Given the description of an element on the screen output the (x, y) to click on. 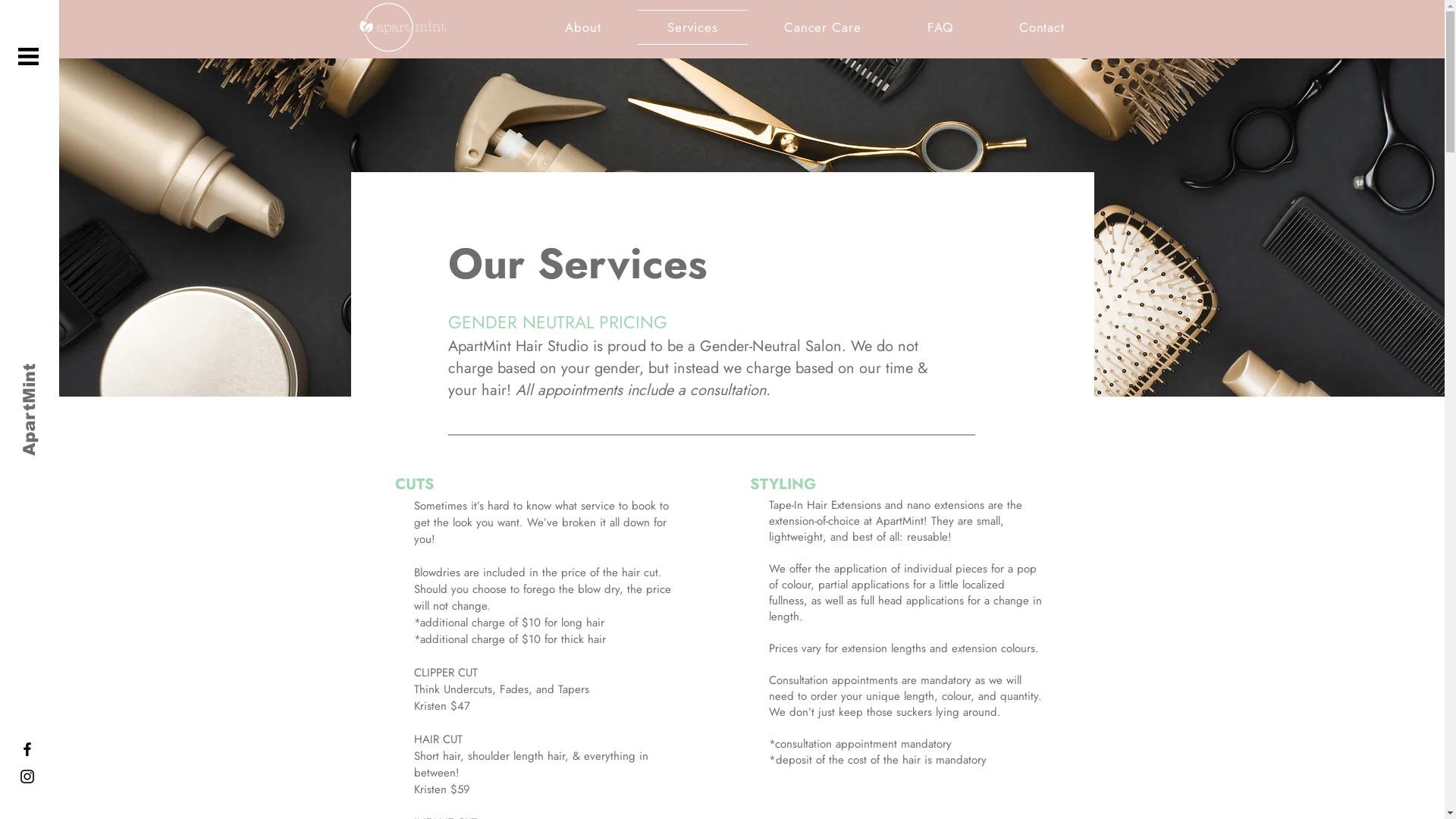
FAQ Element type: text (939, 26)
Contact Element type: text (1041, 26)
Services Element type: text (692, 26)
ApartMint Element type: text (62, 376)
Cancer Care Element type: text (822, 26)
About Element type: text (583, 26)
